Given the description of an element on the screen output the (x, y) to click on. 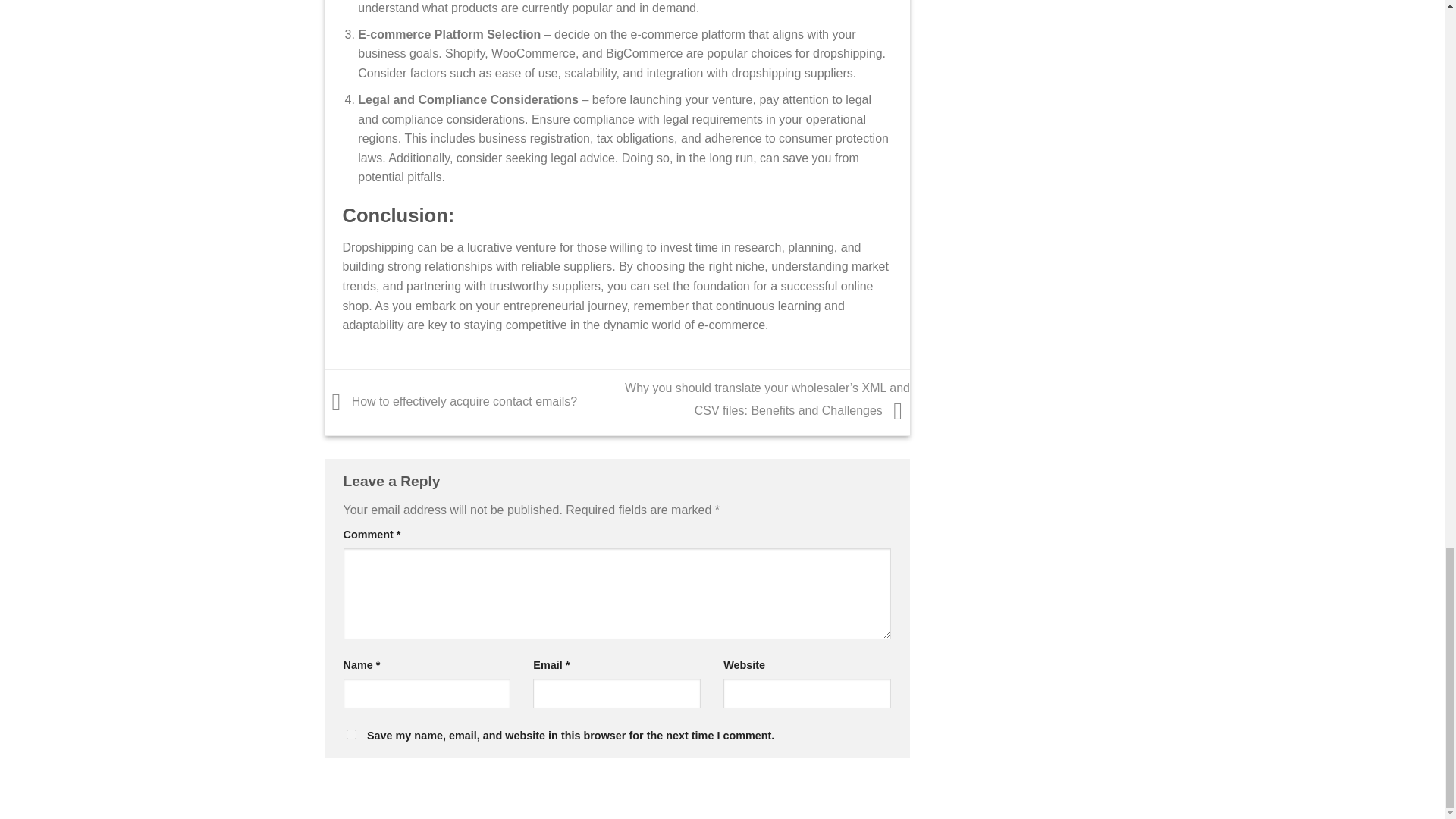
yes (350, 734)
